Given the description of an element on the screen output the (x, y) to click on. 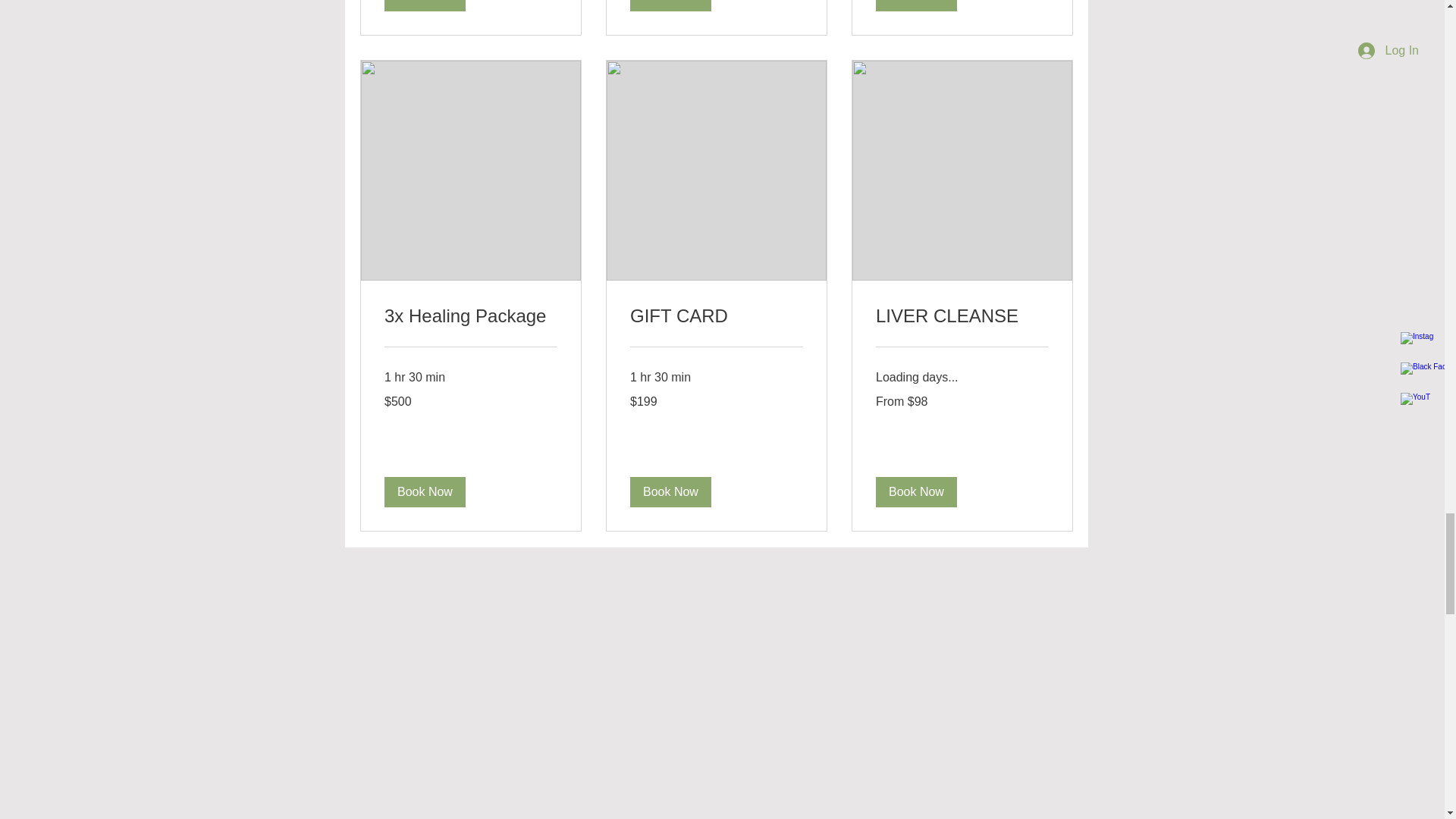
Book Now (915, 5)
LIVER CLEANSE (961, 315)
Book Now (424, 5)
Book Now (424, 492)
Book Now (669, 5)
3x Healing Package (470, 315)
GIFT CARD (715, 315)
Book Now (669, 492)
Book Now (915, 492)
